Given the description of an element on the screen output the (x, y) to click on. 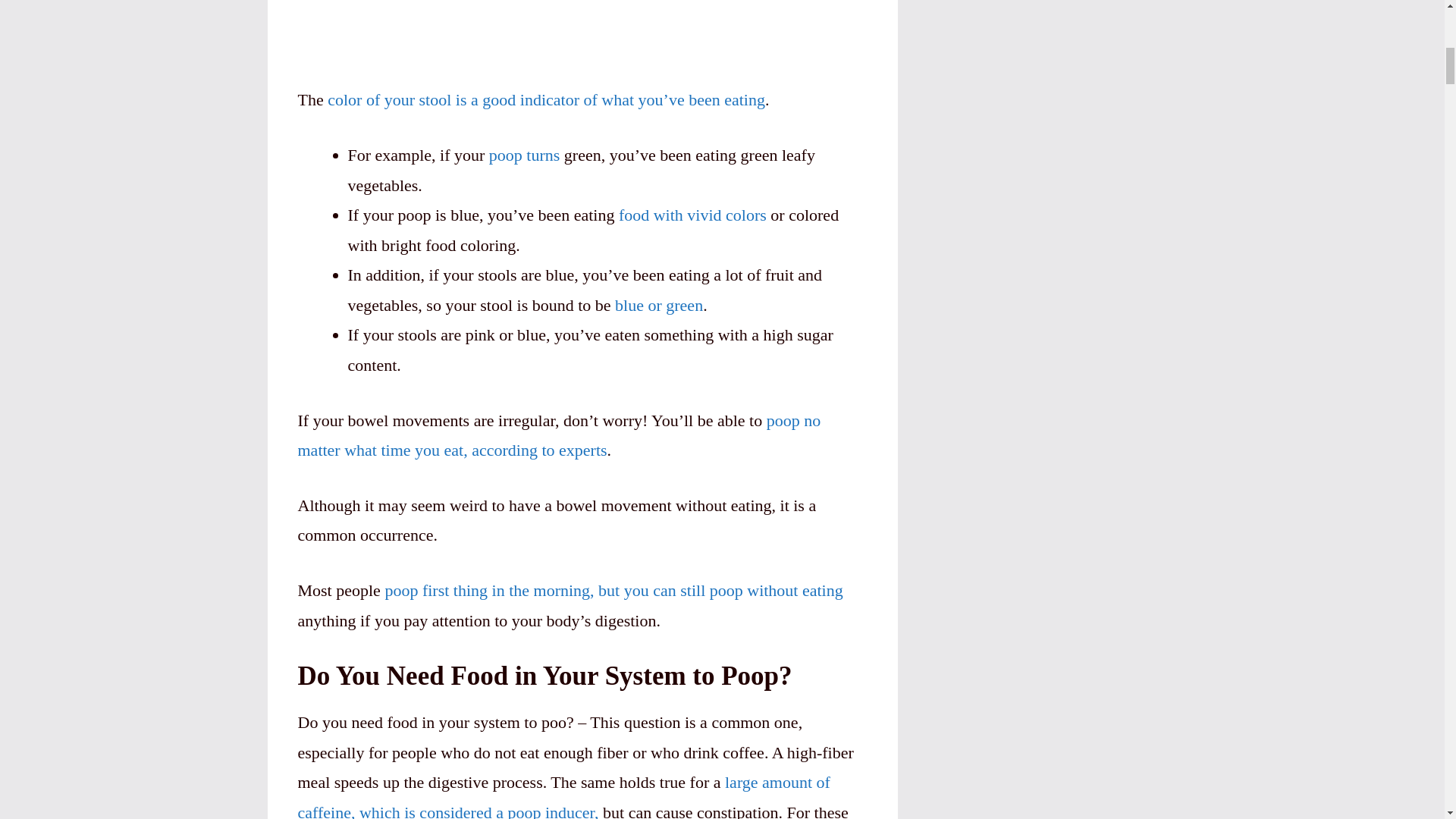
blue or green (658, 304)
poop no matter what time you eat, according to experts (559, 435)
poop turns (524, 154)
Scroll back to top (1406, 720)
food with vivid colors (692, 214)
